Given the description of an element on the screen output the (x, y) to click on. 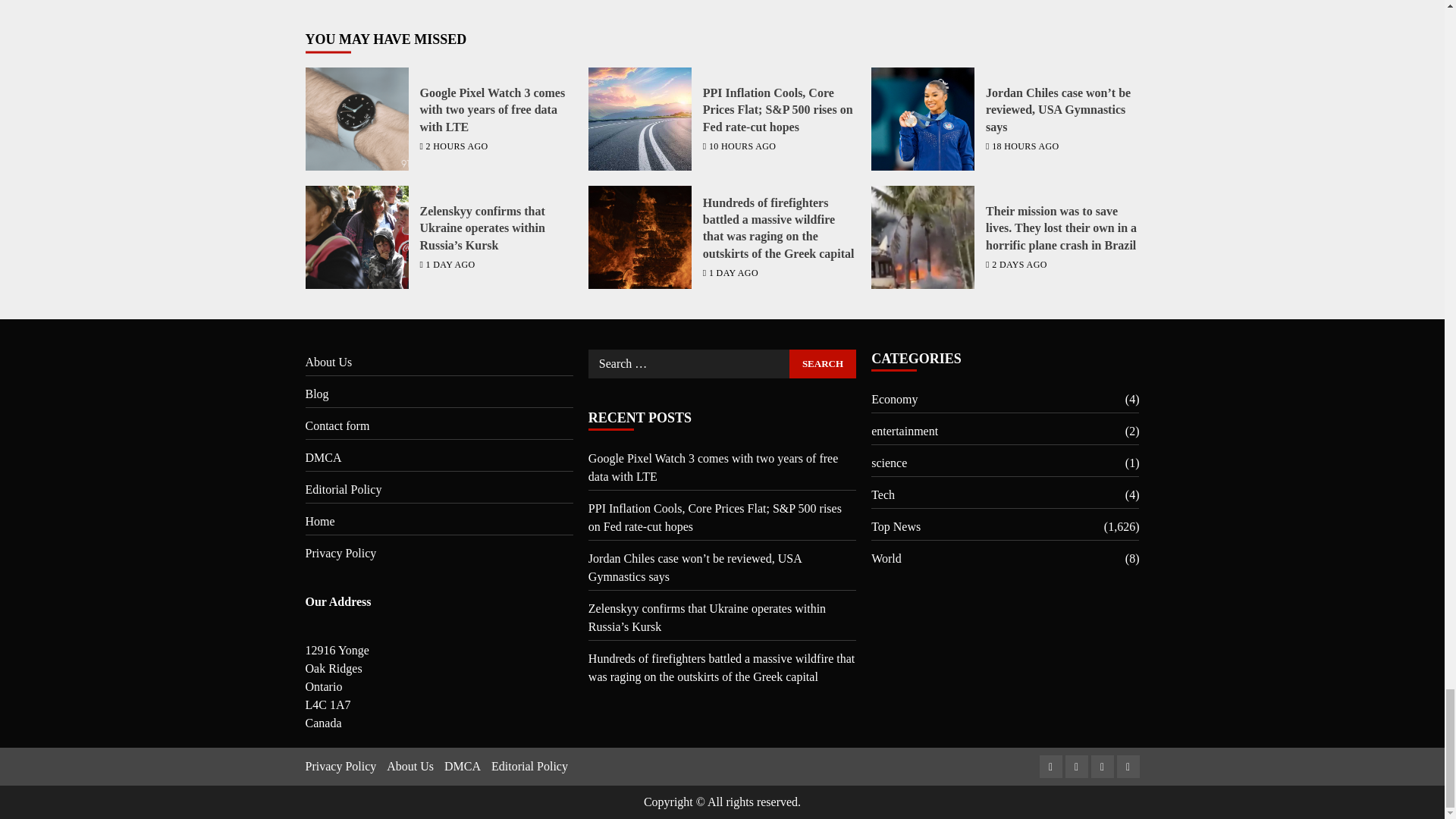
Search (822, 363)
Search (822, 363)
